Given the description of an element on the screen output the (x, y) to click on. 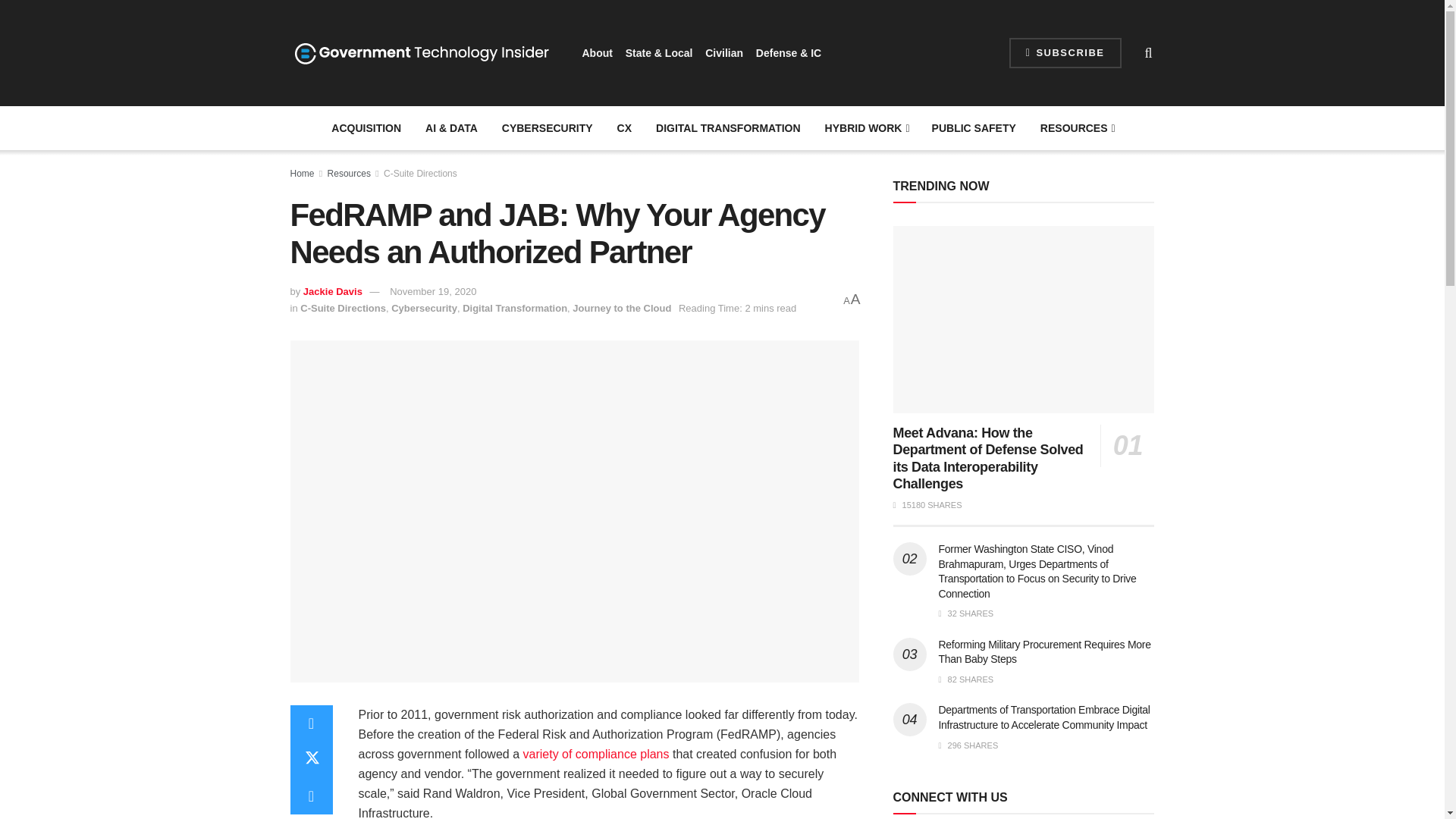
RESOURCES (1076, 127)
HYBRID WORK (866, 127)
SUBSCRIBE (1065, 52)
DIGITAL TRANSFORMATION (727, 127)
CYBERSECURITY (547, 127)
Civilian (723, 53)
PUBLIC SAFETY (973, 127)
ACQUISITION (365, 127)
